Given the description of an element on the screen output the (x, y) to click on. 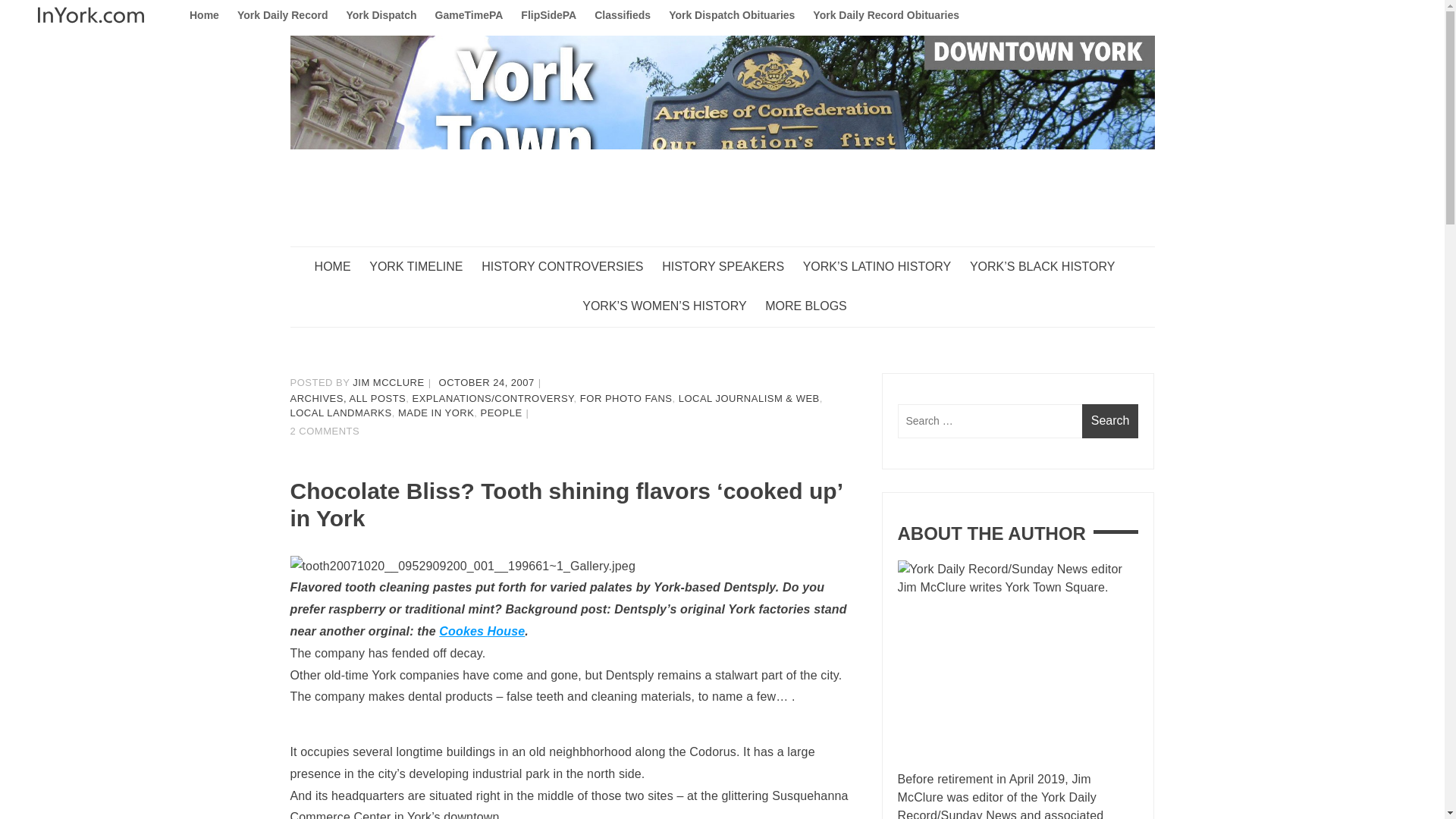
MADE IN YORK (435, 412)
PEOPLE (501, 412)
York Town Square (394, 275)
HISTORY CONTROVERSIES (569, 266)
MORE BLOGS (813, 305)
LOCAL LANDMARKS (340, 412)
Search (1109, 421)
HISTORY SPEAKERS (730, 266)
FOR PHOTO FANS (625, 398)
OCTOBER 24, 2007 (486, 382)
